Given the description of an element on the screen output the (x, y) to click on. 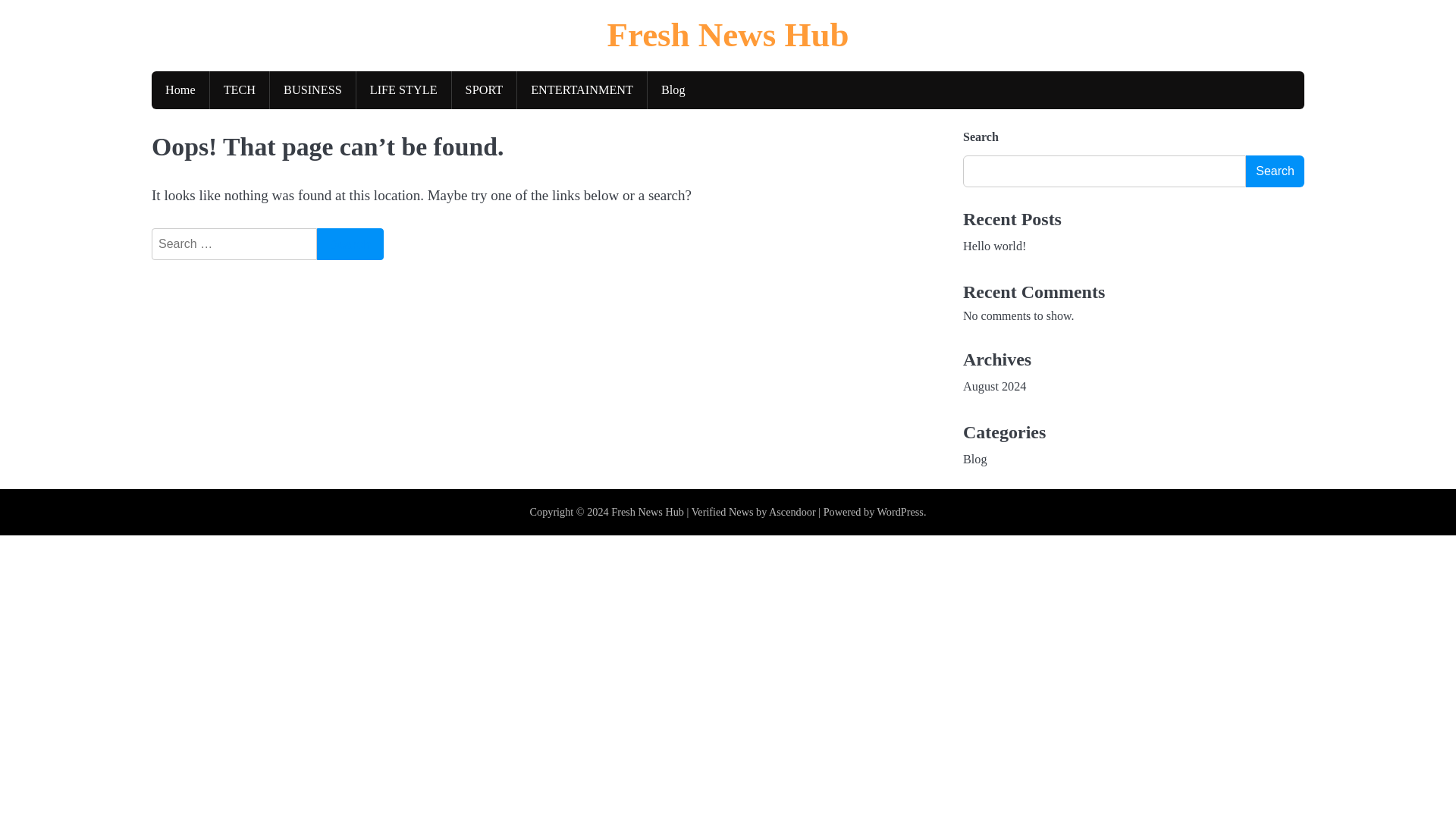
TECH (239, 89)
Fresh News Hub (727, 34)
Home (180, 89)
ENTERTAINMENT (581, 89)
Ascendoor (791, 511)
SPORT (483, 89)
Fresh News Hub (647, 511)
Search (1275, 171)
Blog (672, 89)
Search (350, 244)
